Given the description of an element on the screen output the (x, y) to click on. 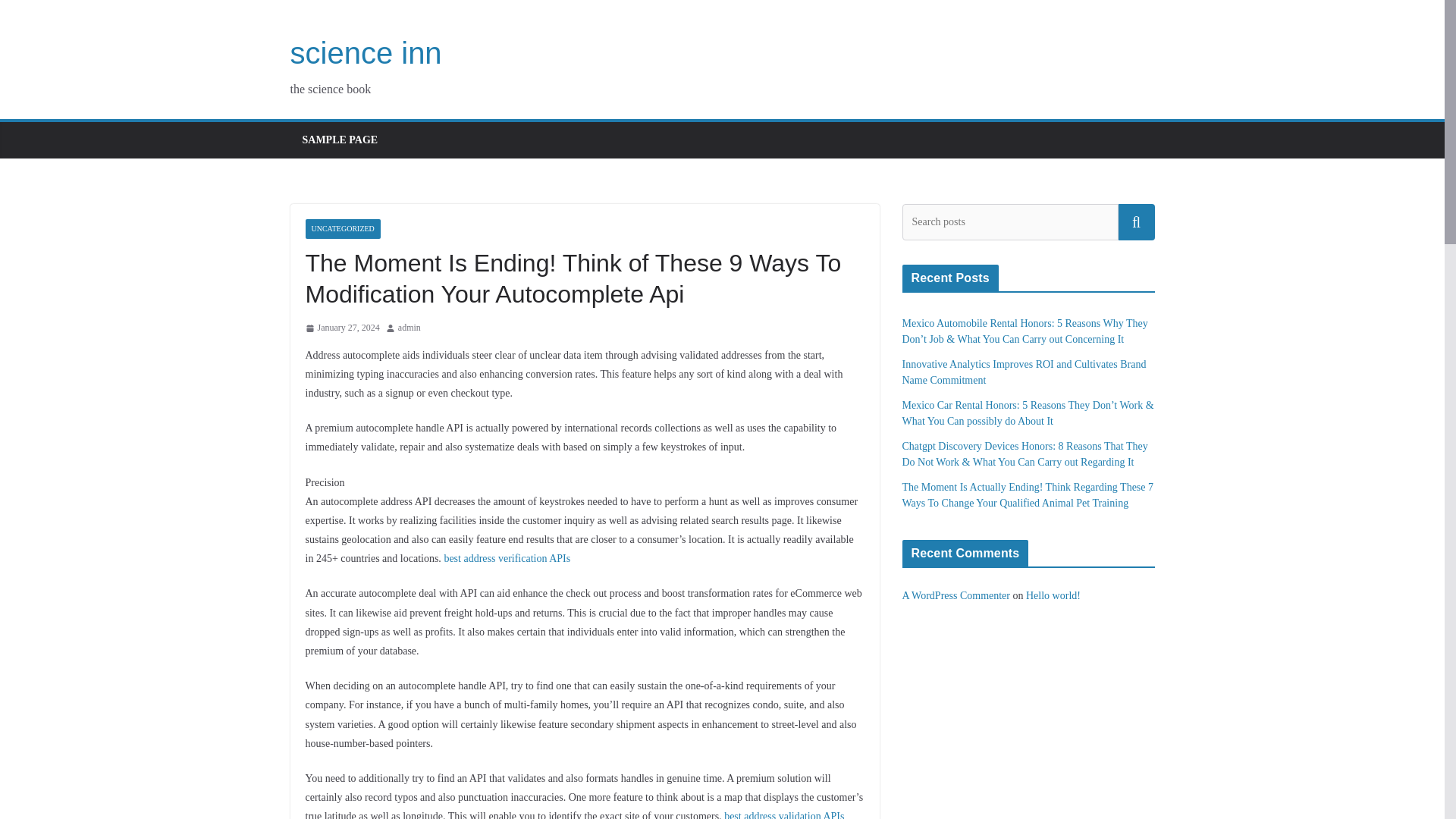
science inn (365, 52)
7:15 pm (341, 328)
January 27, 2024 (341, 328)
best address verification APIs (507, 558)
admin (408, 328)
science inn (365, 52)
A WordPress Commenter (956, 595)
Search (1136, 221)
